Given the description of an element on the screen output the (x, y) to click on. 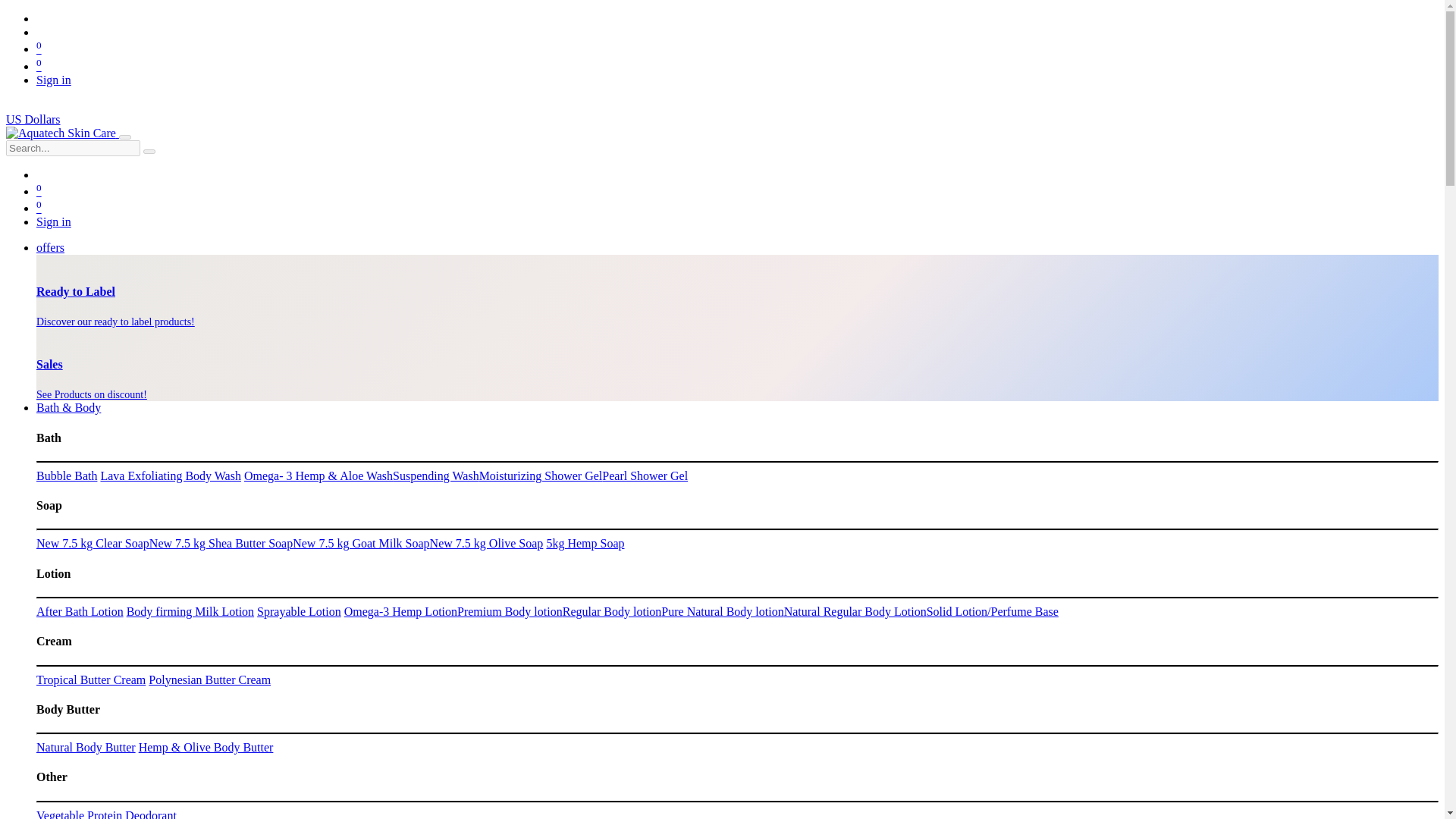
Moisturizing Shower Gel (540, 475)
Sign in (53, 221)
Regular Body lotion (612, 611)
Suspending Wash (436, 475)
Polynesian Butter Cream (209, 679)
Natural Regular Body Lotion (855, 611)
Aquatech Skin Care (60, 132)
Pearl Shower Gel (644, 475)
New 7.5 kg Olive Soap (486, 543)
New 7.5 kg Goat Milk Soap (360, 543)
0 (39, 191)
Bubble Bath (66, 475)
Omega-3 Hemp Lotion (400, 611)
Tropical Butter Cream (90, 679)
Natural Body Butter (85, 747)
